Given the description of an element on the screen output the (x, y) to click on. 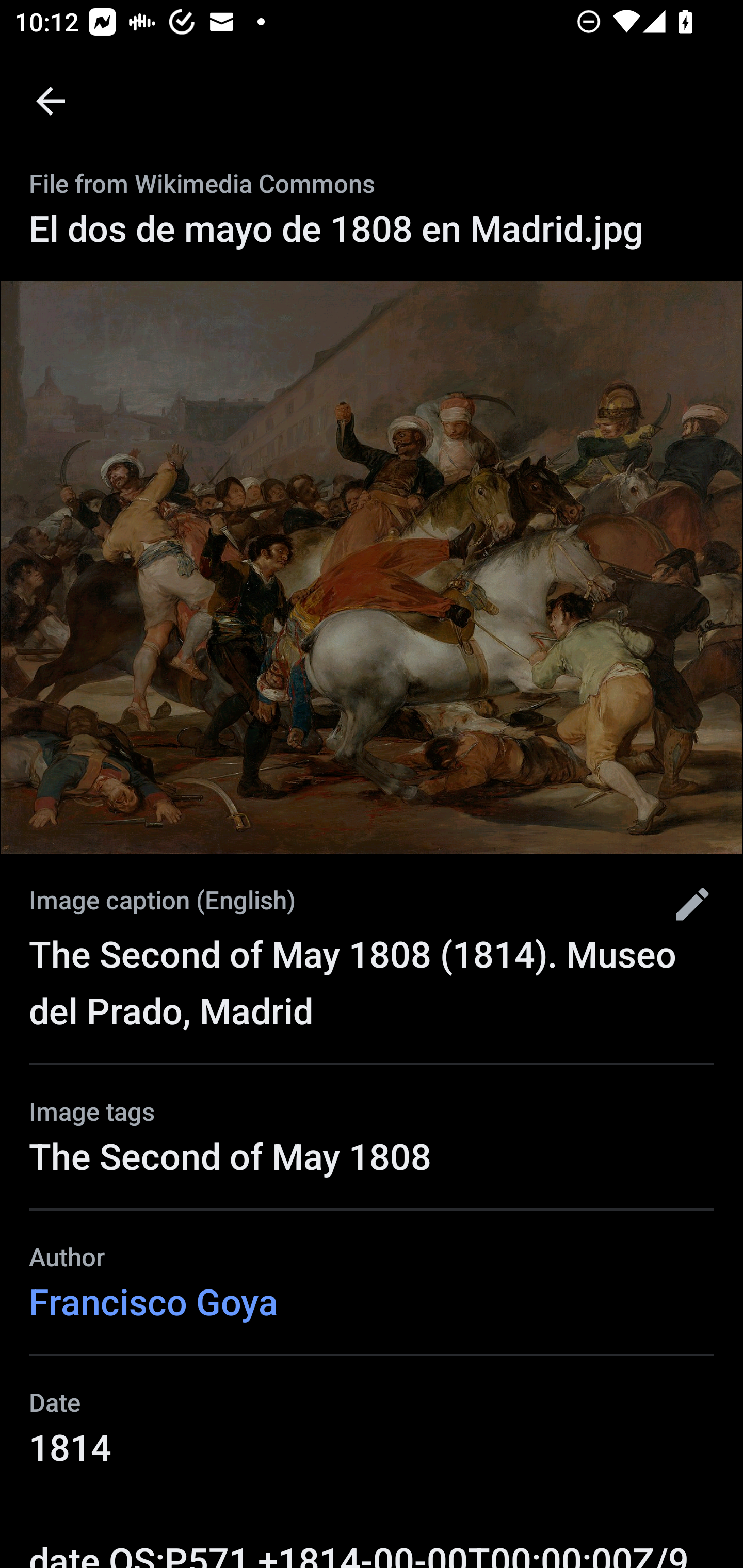
Navigate up (50, 101)
Edit Image caption (English) (685, 903)
